Given the description of an element on the screen output the (x, y) to click on. 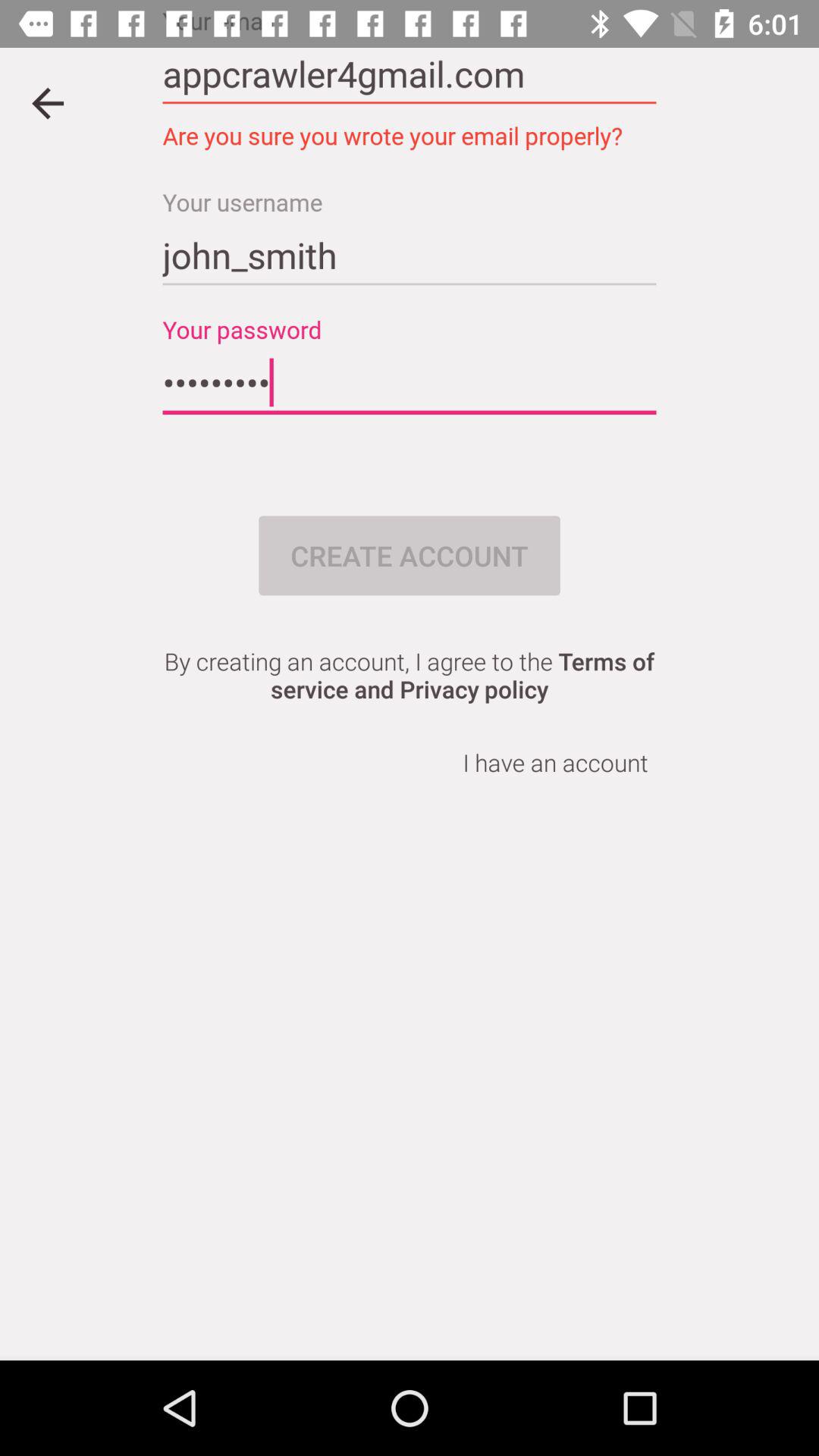
goto back (47, 103)
